Given the description of an element on the screen output the (x, y) to click on. 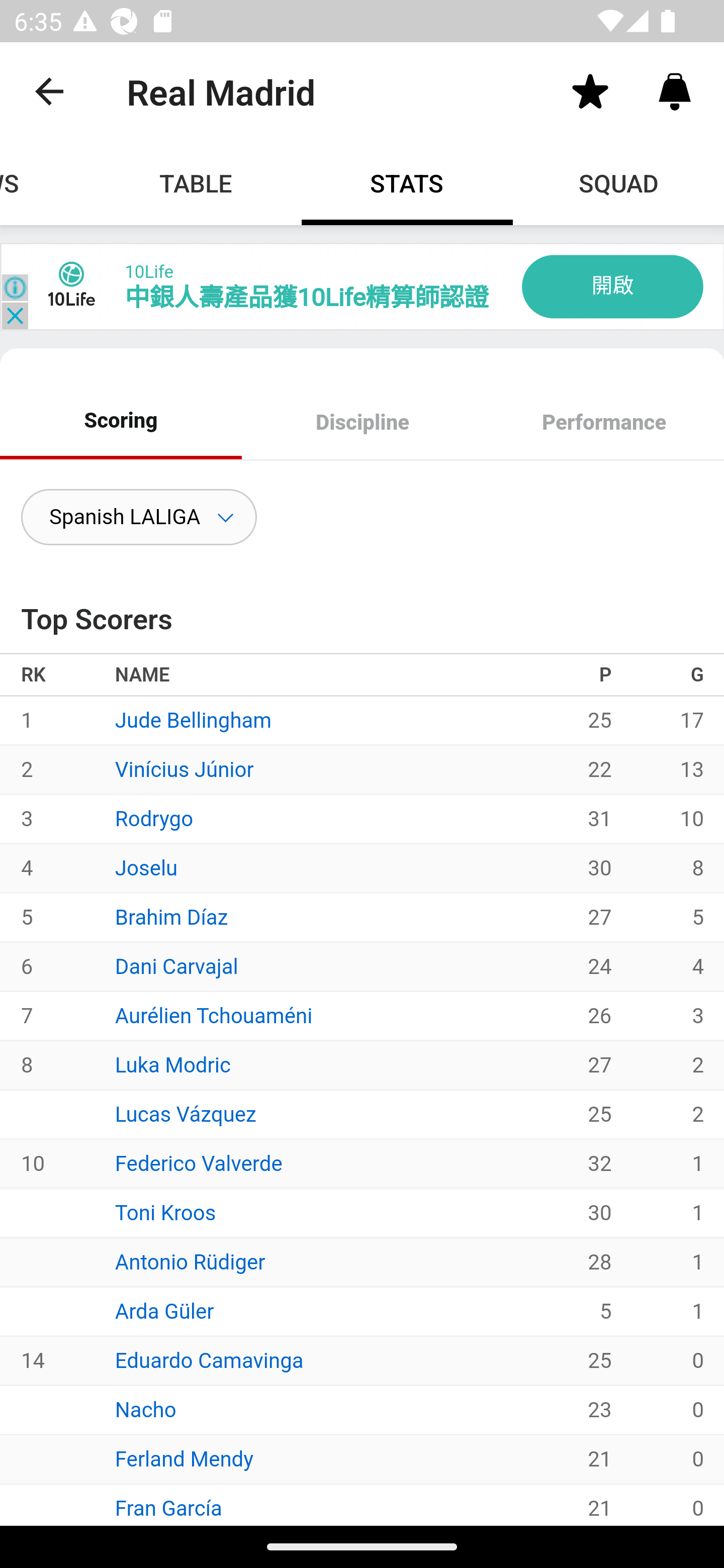
back.button (49, 90)
Favorite toggle (590, 90)
Alerts (674, 90)
Table TABLE (195, 183)
Squad SQUAD (618, 183)
開啟 (611, 286)
10Life (148, 271)
中銀人壽產品獲10Life精算師認證 (306, 297)
Scoring (121, 420)
Discipline Discipline Discipline (362, 423)
Performance (603, 423)
Spanish LALIGA (138, 517)
Jude Bellingham (193, 720)
Vinícius Júnior (184, 768)
Rodrygo (154, 818)
Joselu (146, 867)
Brahim Díaz (171, 916)
Dani Carvajal (176, 966)
Aurélien Tchouaméni (213, 1014)
Luka Modric (173, 1065)
Lucas Vázquez (185, 1113)
Federico Valverde (198, 1163)
Toni Kroos (165, 1212)
Antonio Rüdiger (189, 1261)
Arda Güler (164, 1311)
Eduardo Camavinga (209, 1359)
Nacho (145, 1409)
Ferland Mendy (184, 1458)
Fran García (168, 1507)
